Given the description of an element on the screen output the (x, y) to click on. 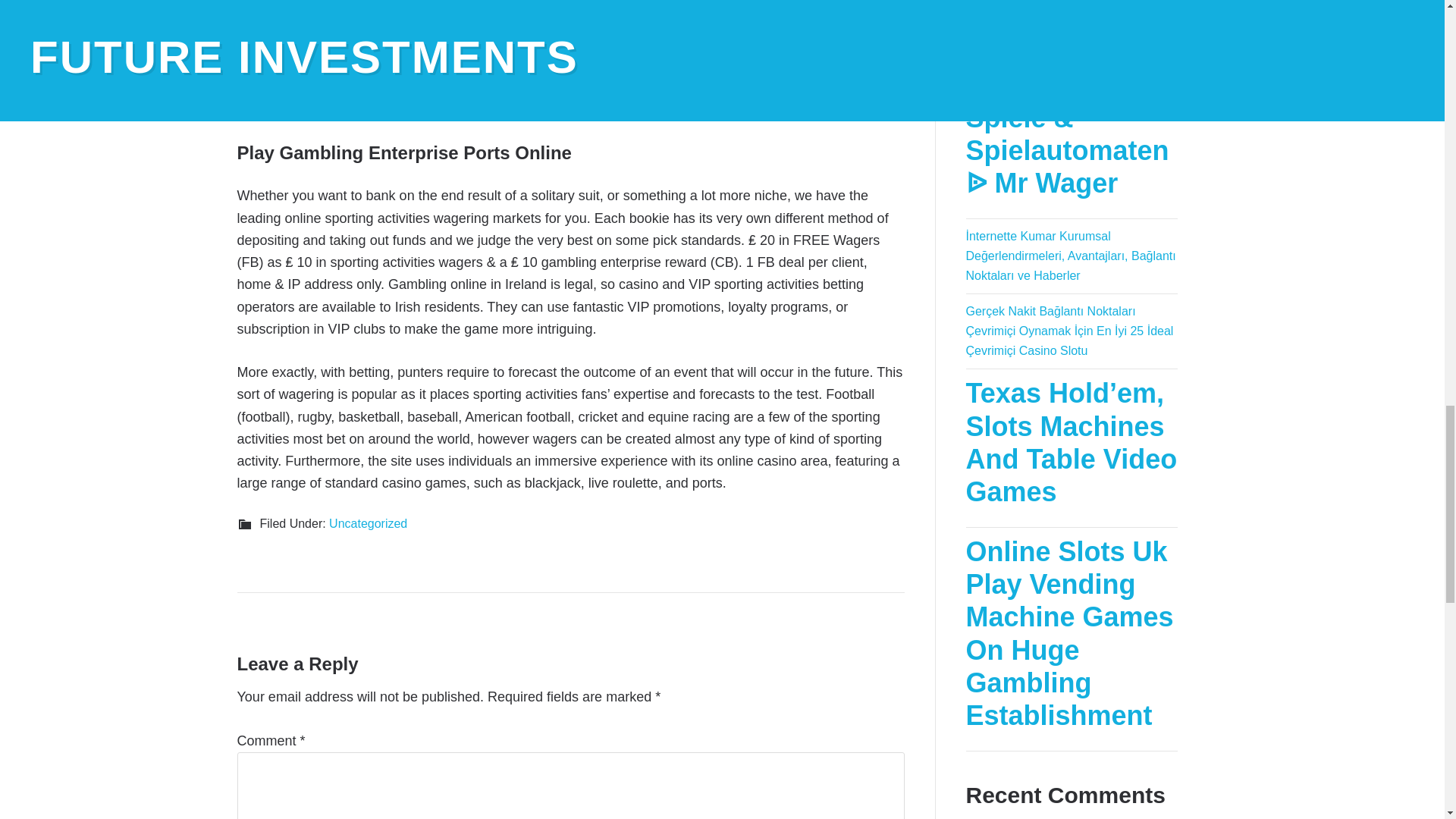
Uncategorized (368, 522)
